Given the description of an element on the screen output the (x, y) to click on. 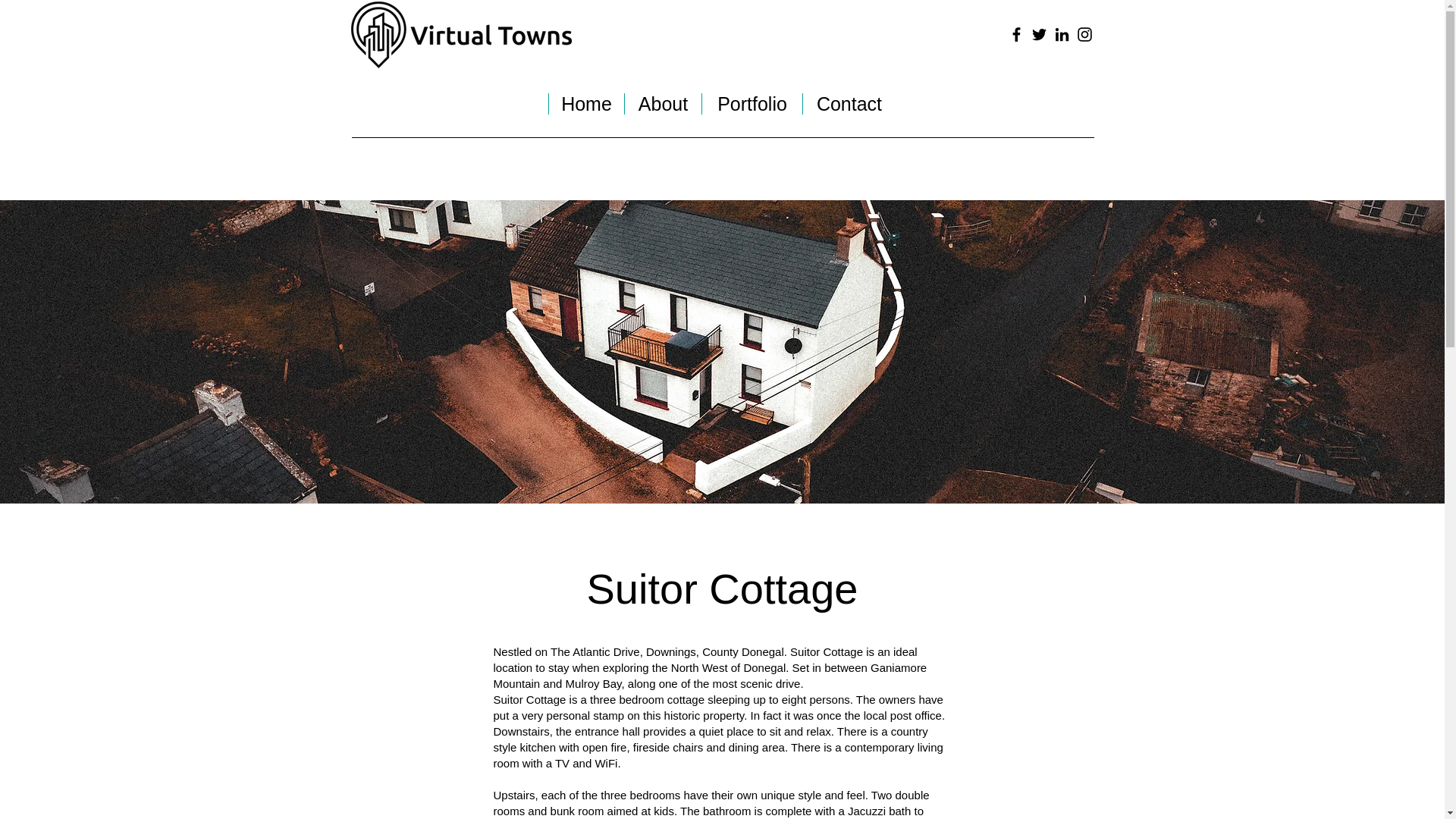
Portfolio (751, 103)
About (662, 103)
Contact (848, 103)
Home (586, 103)
